Given the description of an element on the screen output the (x, y) to click on. 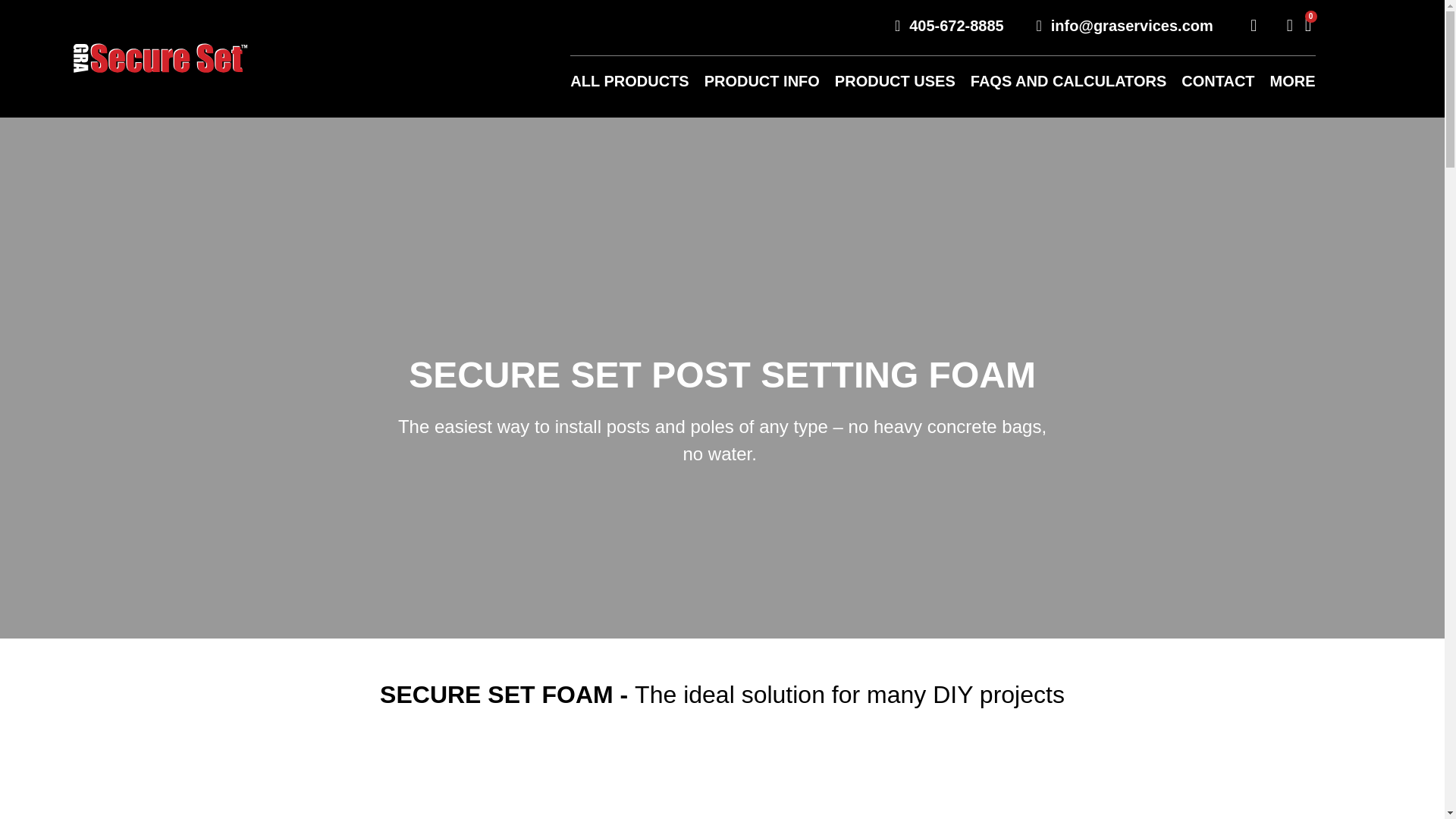
405-672-8885 (942, 25)
ALL PRODUCTS (629, 80)
PRODUCT INFO (761, 80)
FAQS AND CALCULATORS (1069, 80)
PRODUCT USES (894, 80)
